Given the description of an element on the screen output the (x, y) to click on. 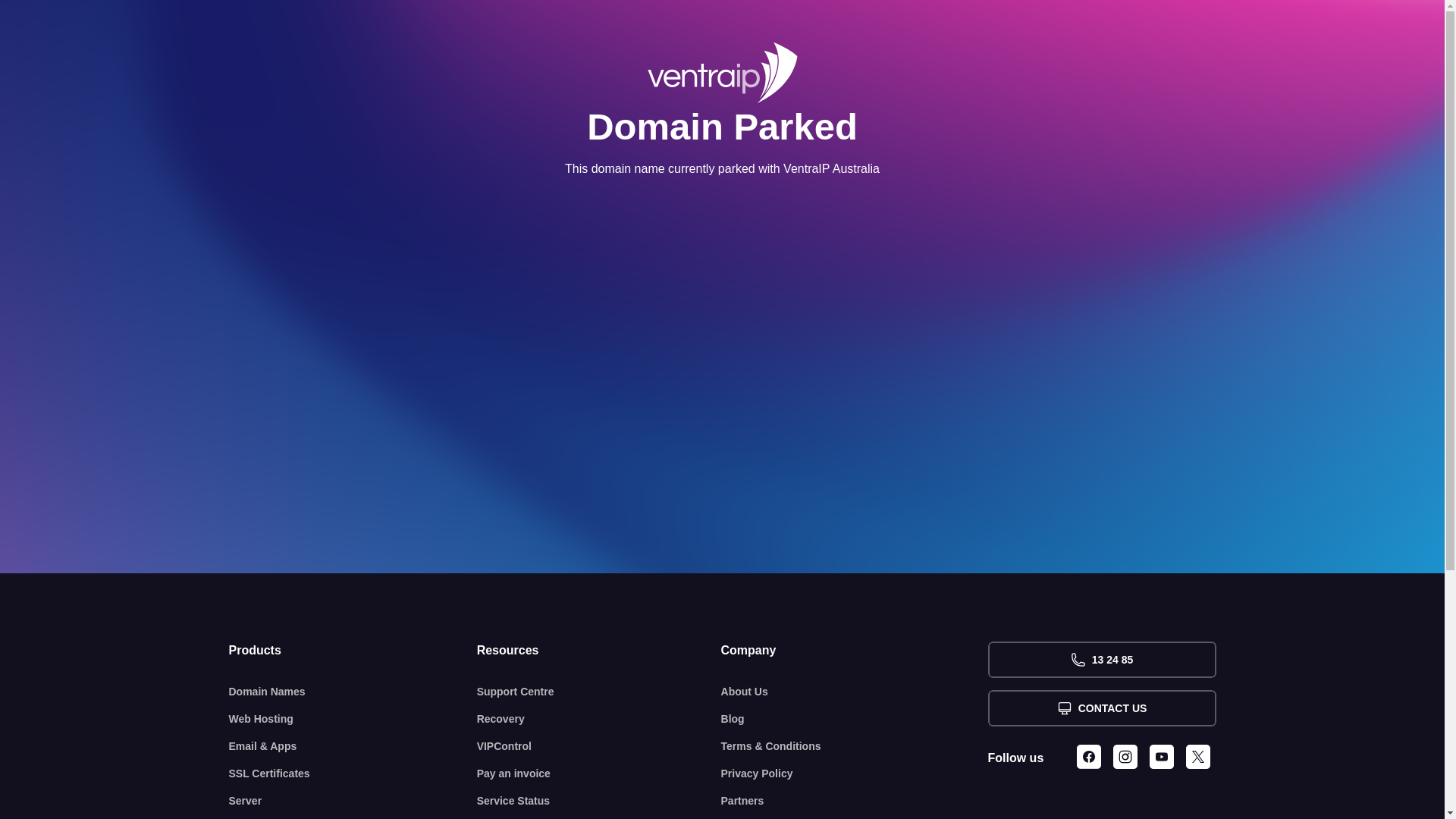
Support Centre Element type: text (598, 691)
Email & Apps Element type: text (352, 745)
Service Status Element type: text (598, 800)
13 24 85 Element type: text (1101, 659)
Server Element type: text (352, 800)
Recovery Element type: text (598, 718)
Blog Element type: text (854, 718)
Domain Names Element type: text (352, 691)
Pay an invoice Element type: text (598, 773)
SSL Certificates Element type: text (352, 773)
Partners Element type: text (854, 800)
VIPControl Element type: text (598, 745)
About Us Element type: text (854, 691)
CONTACT US Element type: text (1101, 708)
Privacy Policy Element type: text (854, 773)
Terms & Conditions Element type: text (854, 745)
Web Hosting Element type: text (352, 718)
